Given the description of an element on the screen output the (x, y) to click on. 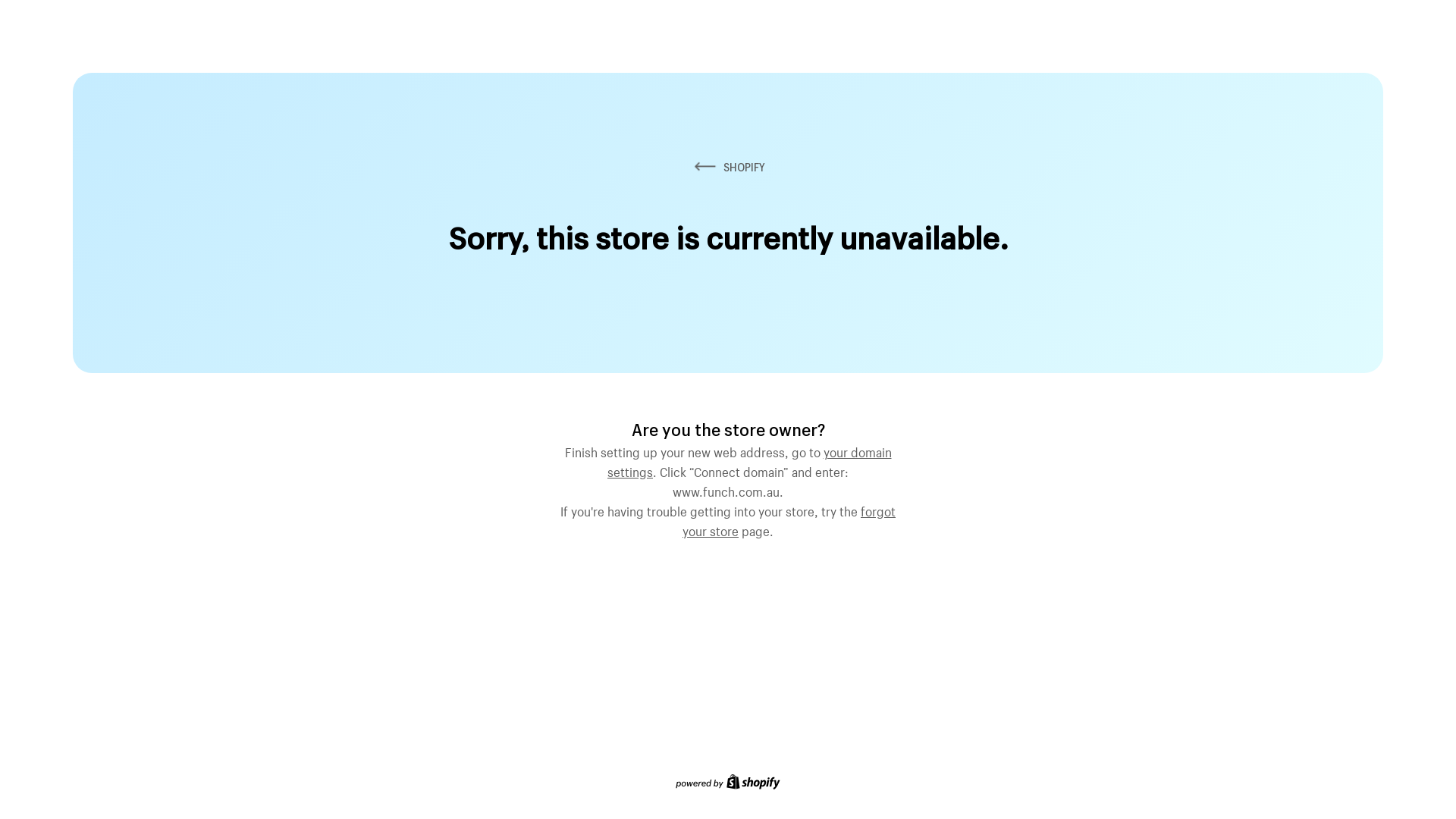
forgot your store Element type: text (788, 519)
your domain settings Element type: text (749, 460)
SHOPIFY Element type: text (727, 167)
